Given the description of an element on the screen output the (x, y) to click on. 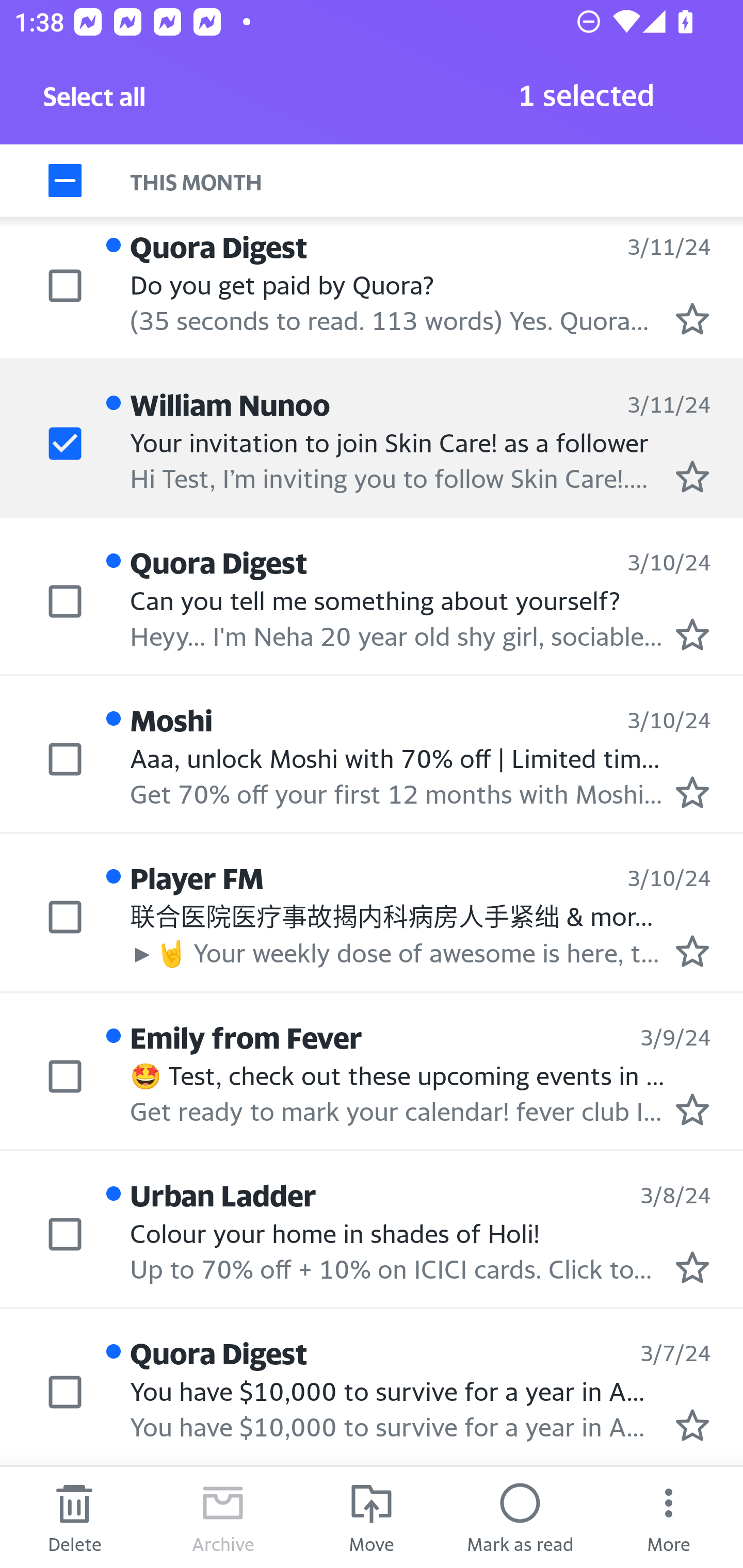
Select all (94, 101)
Mark as starred. (692, 319)
Mark as starred. (692, 475)
Mark as starred. (692, 634)
Mark as starred. (692, 792)
Mark as starred. (692, 950)
Mark as starred. (692, 1109)
Mark as starred. (692, 1267)
Mark as starred. (692, 1424)
Delete (74, 1517)
Archive (222, 1517)
Move (371, 1517)
Mark as read (519, 1517)
More (668, 1517)
